Given the description of an element on the screen output the (x, y) to click on. 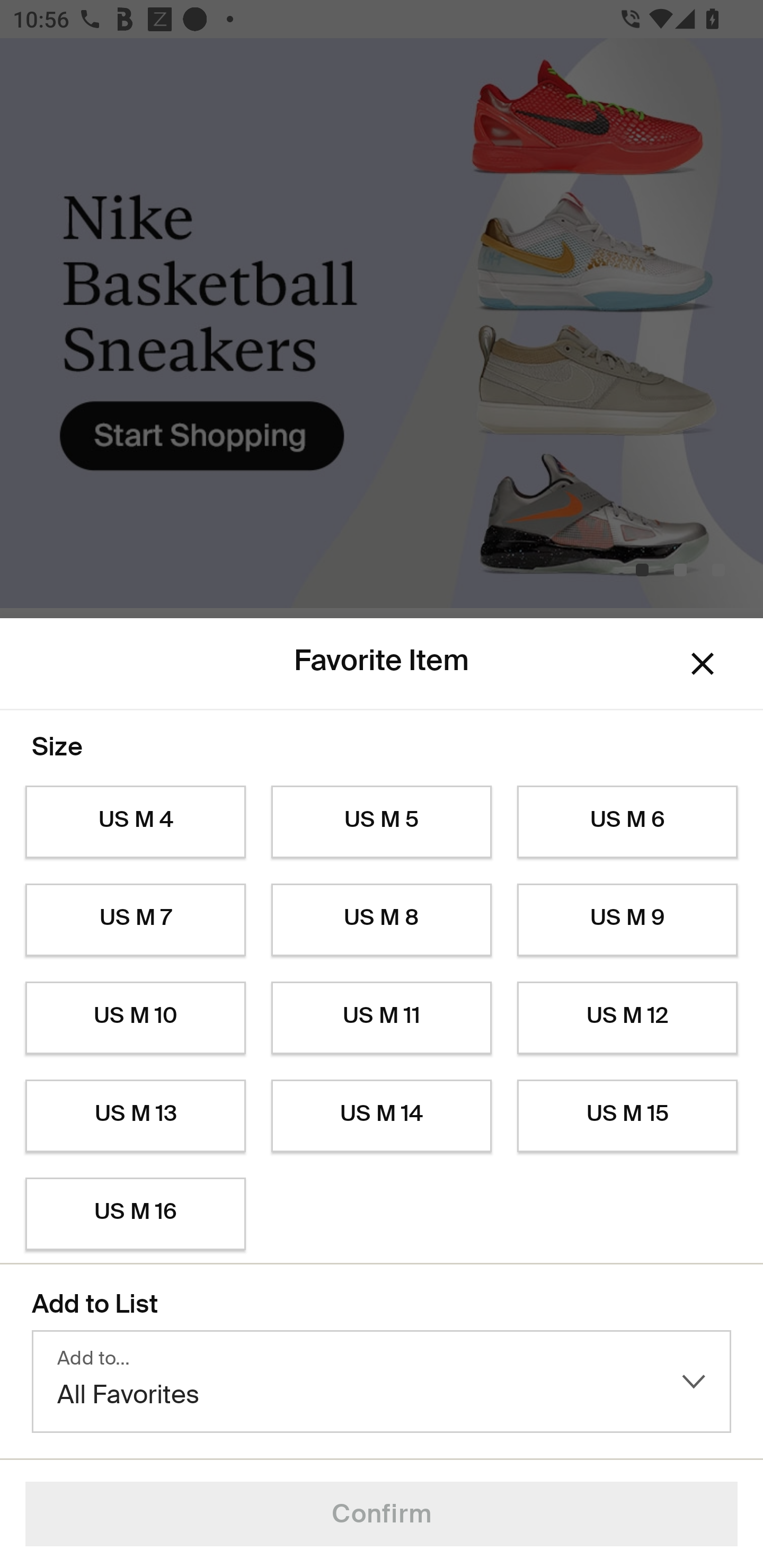
Dismiss (702, 663)
US M 4 (135, 822)
US M 5 (381, 822)
US M 6 (627, 822)
US M 7 (135, 919)
US M 8 (381, 919)
US M 9 (627, 919)
US M 10 (135, 1018)
US M 11 (381, 1018)
US M 12 (627, 1018)
US M 13 (135, 1116)
US M 14 (381, 1116)
US M 15 (627, 1116)
US M 16 (135, 1214)
Add to… All Favorites (381, 1381)
Confirm (381, 1513)
